Given the description of an element on the screen output the (x, y) to click on. 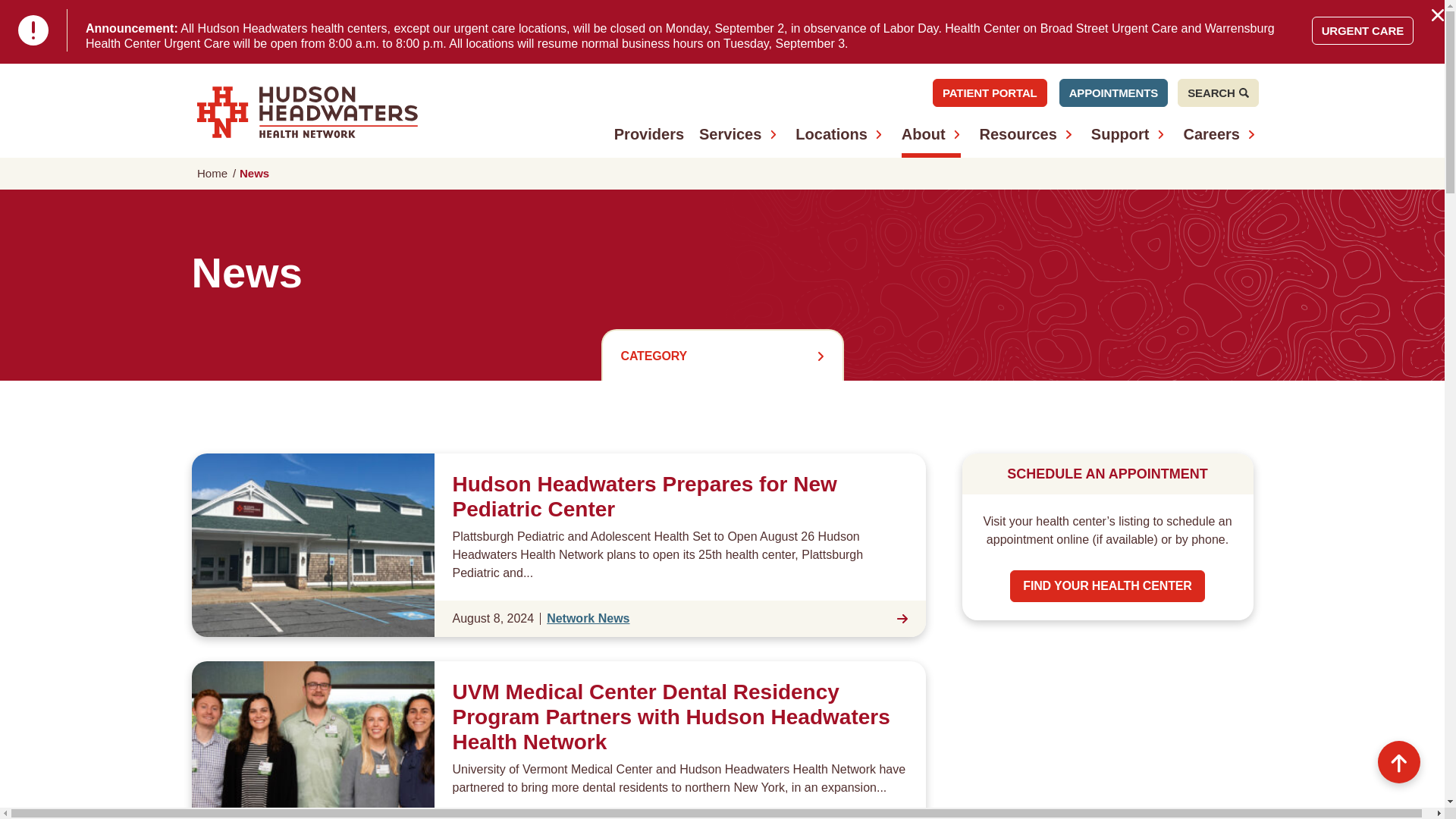
Hudson Headwaters Health Network (306, 112)
Dismiss Notice (1437, 15)
Open Menu: Services (772, 133)
Services (729, 133)
Back to Top (1399, 761)
Providers (649, 133)
Locations (830, 133)
APPOINTMENTS (1113, 92)
PATIENT PORTAL (989, 92)
